Given the description of an element on the screen output the (x, y) to click on. 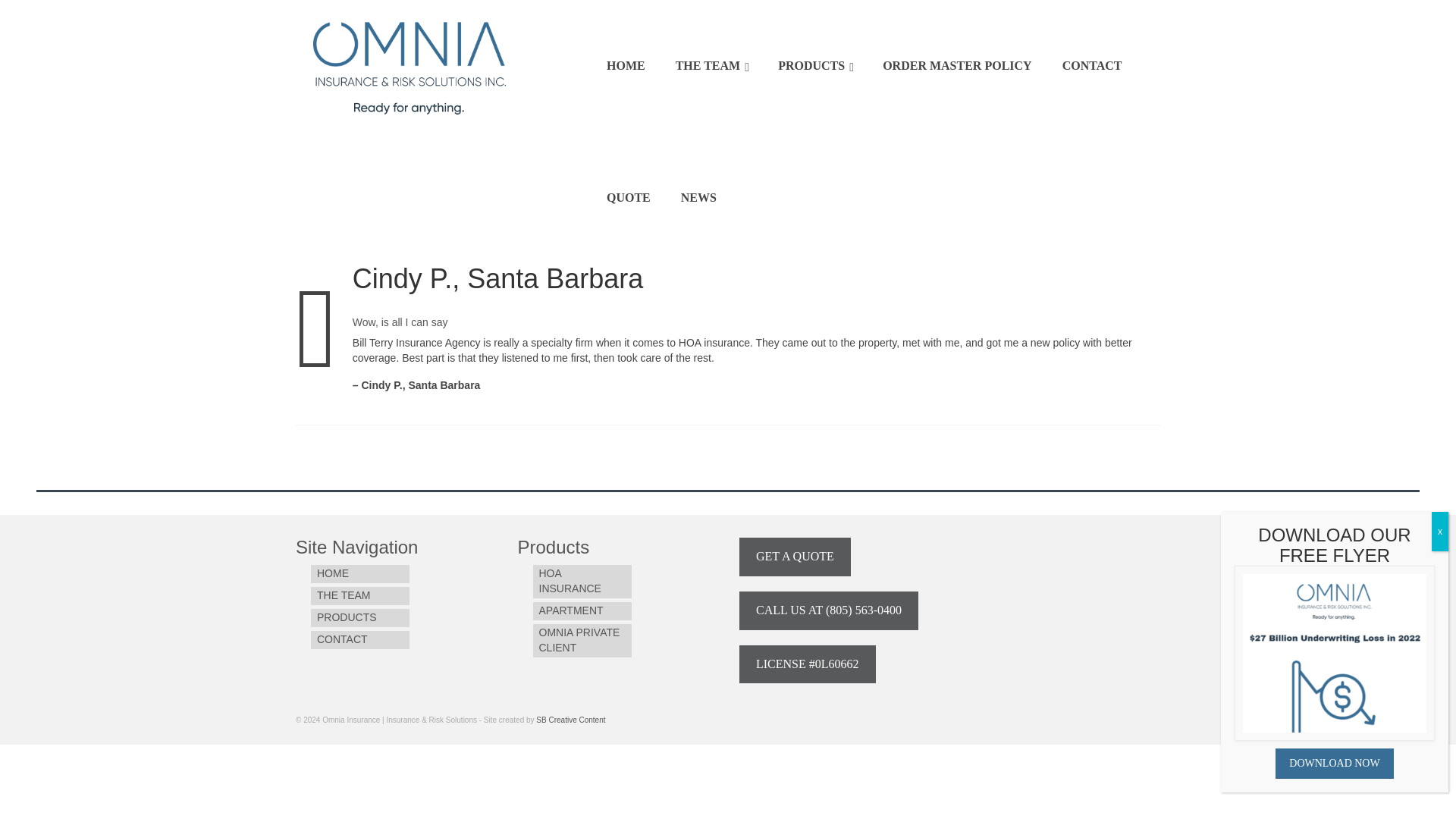
PRODUCTS (360, 618)
OMNIA PRIVATE CLIENT (581, 640)
CONTACT (360, 639)
HOA INSURANCE (581, 581)
APARTMENT (581, 610)
GET A QUOTE (794, 556)
ORDER MASTER POLICY (956, 65)
THE TEAM (360, 596)
SB Creative Content (570, 719)
HOME (360, 574)
